Given the description of an element on the screen output the (x, y) to click on. 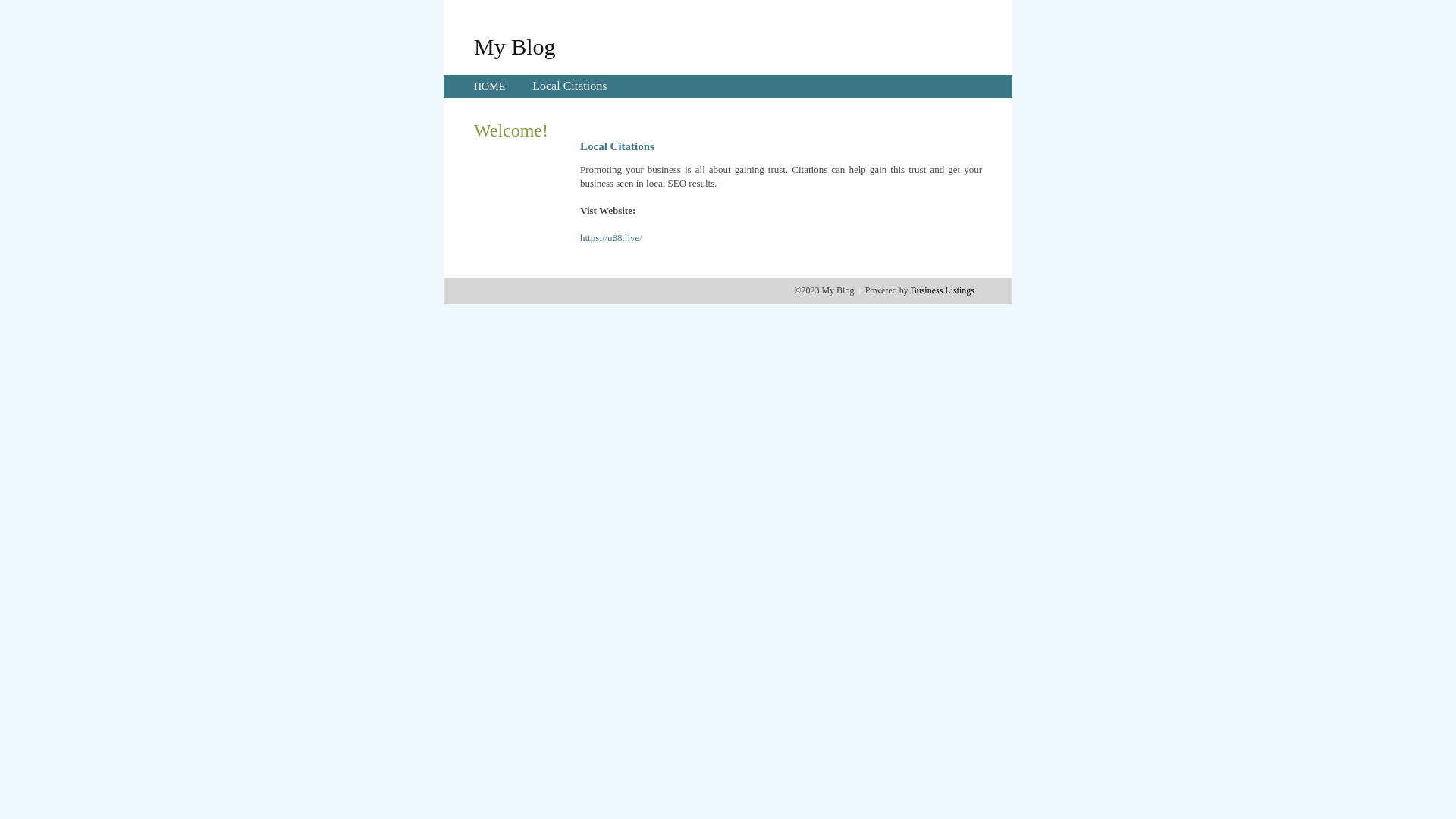
Business Listings Element type: text (942, 290)
Local Citations Element type: text (569, 85)
HOME Element type: text (489, 86)
My Blog Element type: text (514, 46)
https://u88.live/ Element type: text (611, 237)
